Given the description of an element on the screen output the (x, y) to click on. 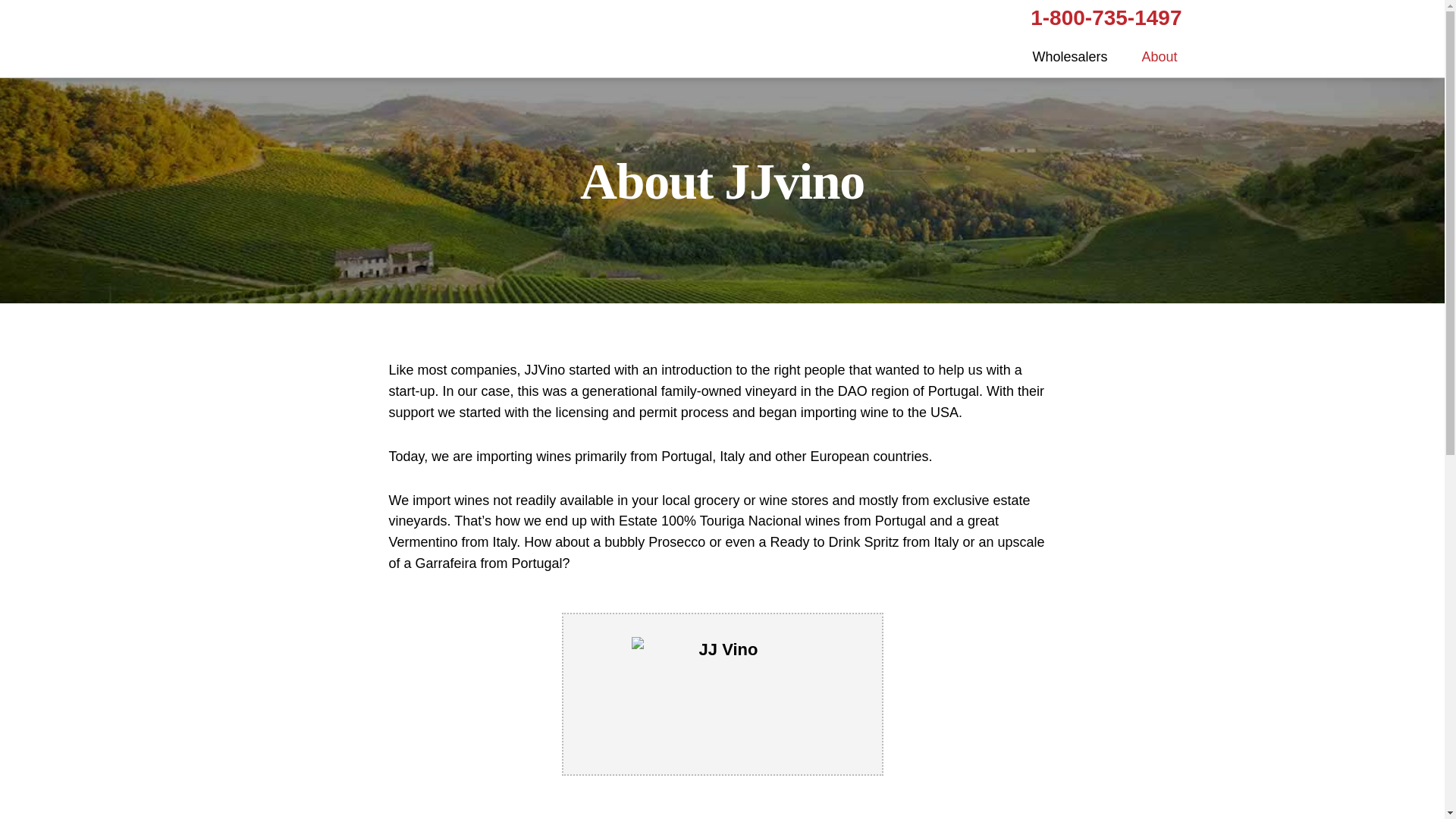
JJVINO (327, 38)
About (1158, 56)
1-800-735-1497 (1106, 18)
Wholesalers (1069, 56)
